Given the description of an element on the screen output the (x, y) to click on. 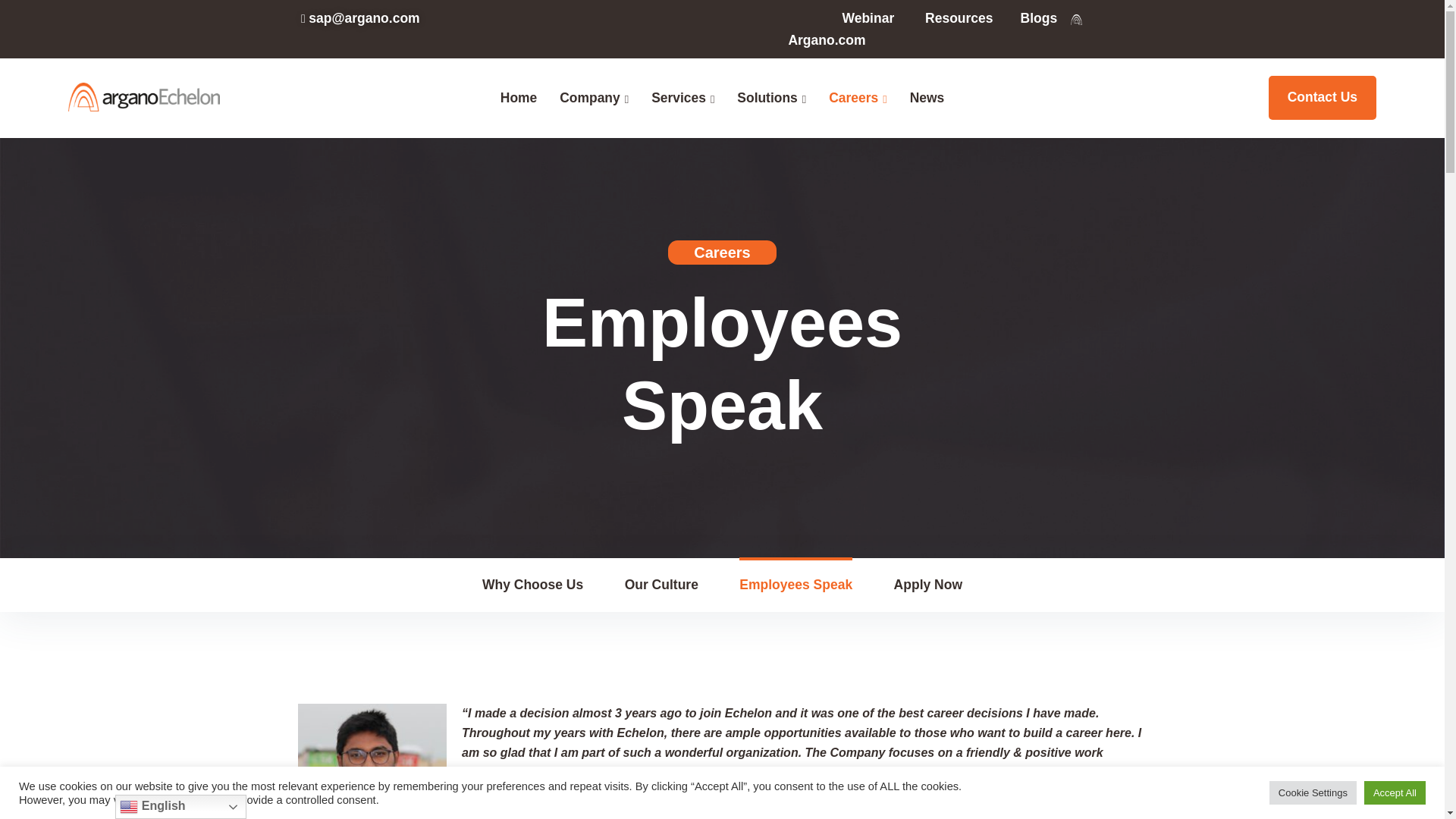
qwe (371, 761)
Argano.com (825, 39)
Blogs (1039, 17)
Company (589, 97)
Services (678, 97)
Solutions (766, 97)
Home (518, 97)
Resources (958, 17)
Webinar (869, 17)
